Given the description of an element on the screen output the (x, y) to click on. 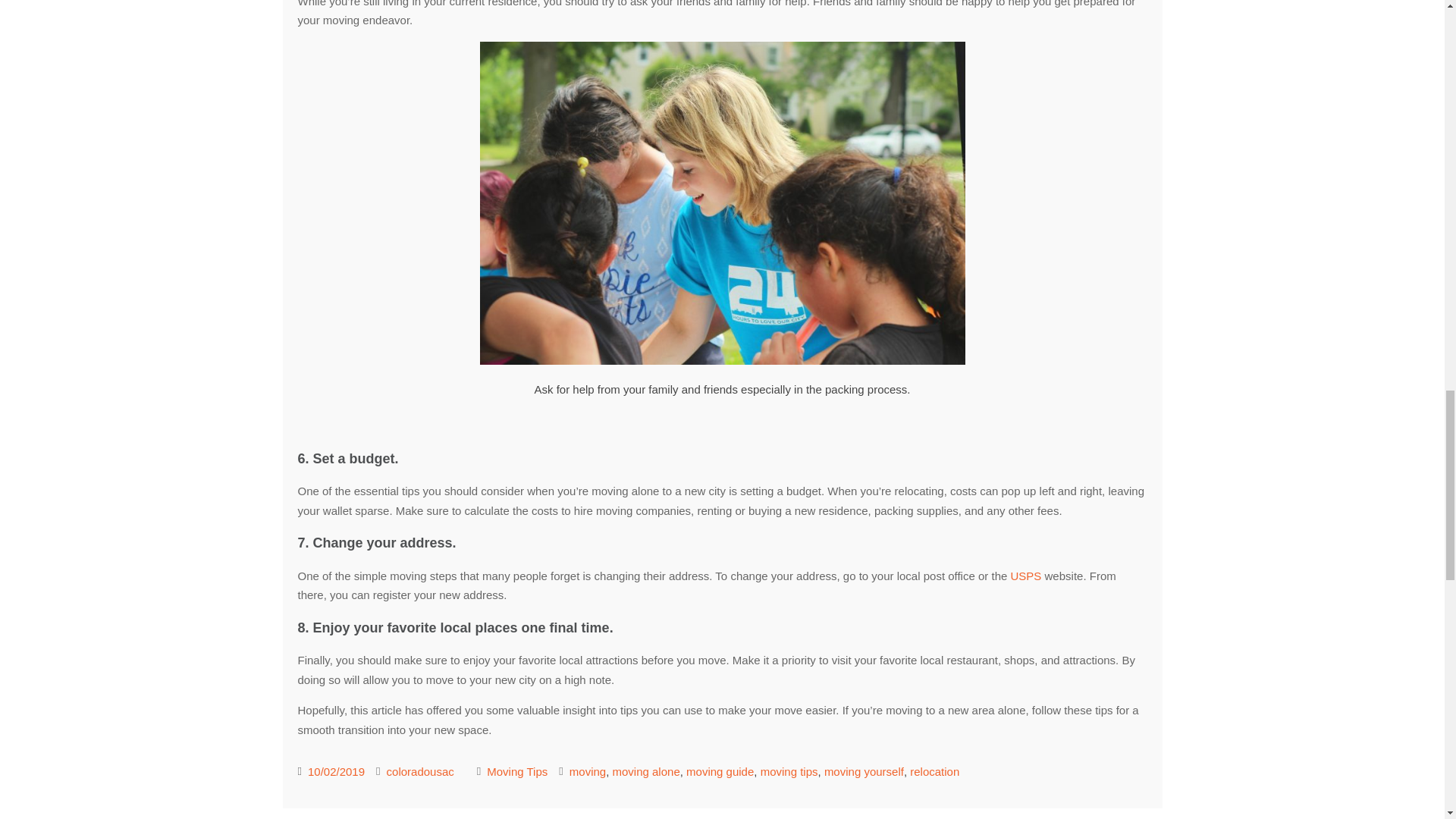
moving tips (789, 771)
moving guide (719, 771)
USPS (1025, 575)
coloradousac (420, 771)
moving alone (645, 771)
moving (587, 771)
moving yourself (864, 771)
relocation (934, 771)
Moving Tips (516, 771)
